Given the description of an element on the screen output the (x, y) to click on. 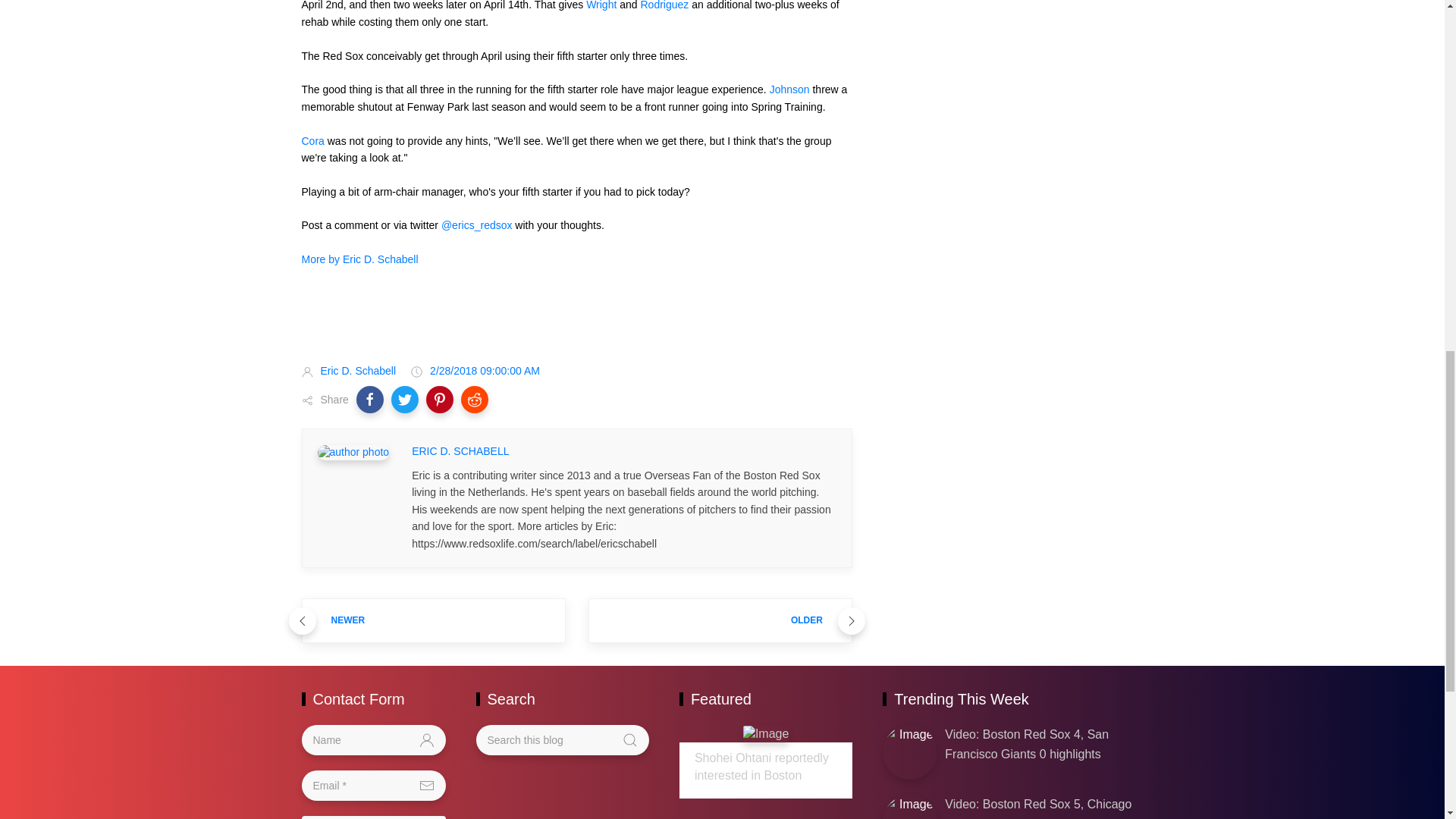
Rodriguez (664, 5)
author profile (352, 451)
author profile (460, 451)
OLDER (719, 620)
Wright (600, 5)
Johnson (789, 89)
NEWER (433, 620)
author profile (358, 370)
Eric D. Schabell (358, 370)
permanent link (484, 370)
Cora (312, 141)
ERIC D. SCHABELL (460, 451)
More by Eric D. Schabell (360, 259)
